Given the description of an element on the screen output the (x, y) to click on. 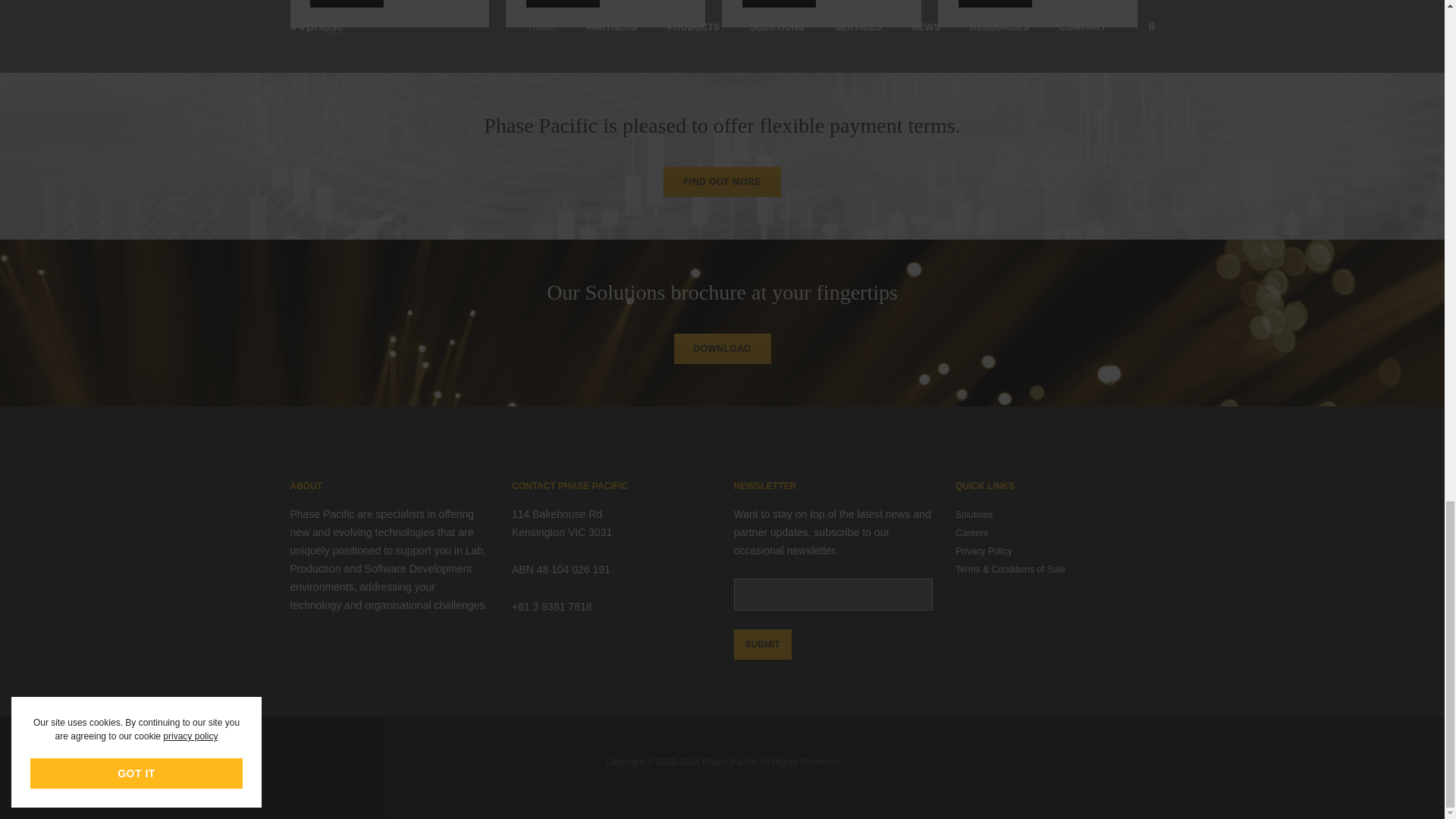
Submit (762, 644)
